Given the description of an element on the screen output the (x, y) to click on. 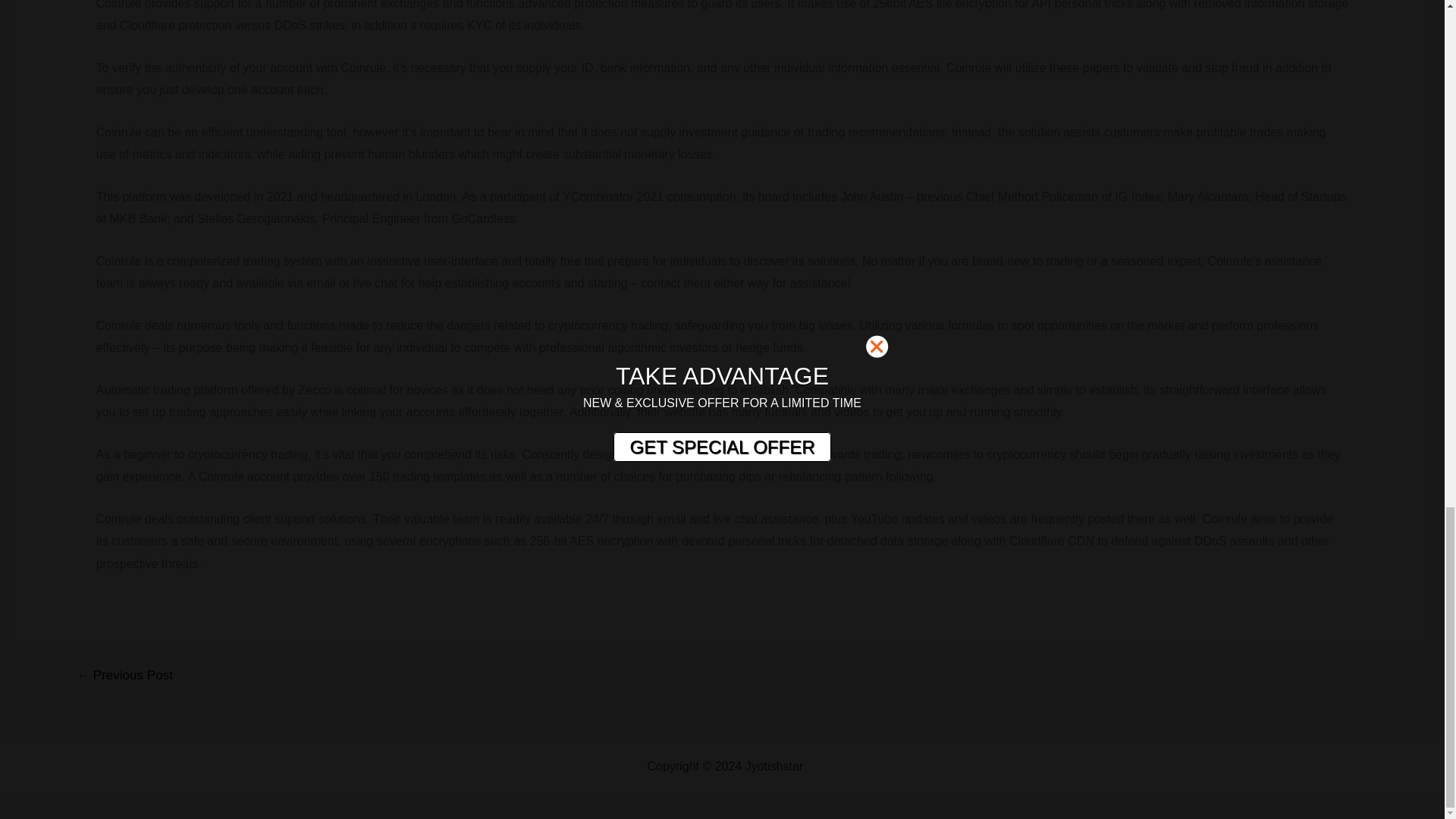
Sitemap (828, 766)
